Given the description of an element on the screen output the (x, y) to click on. 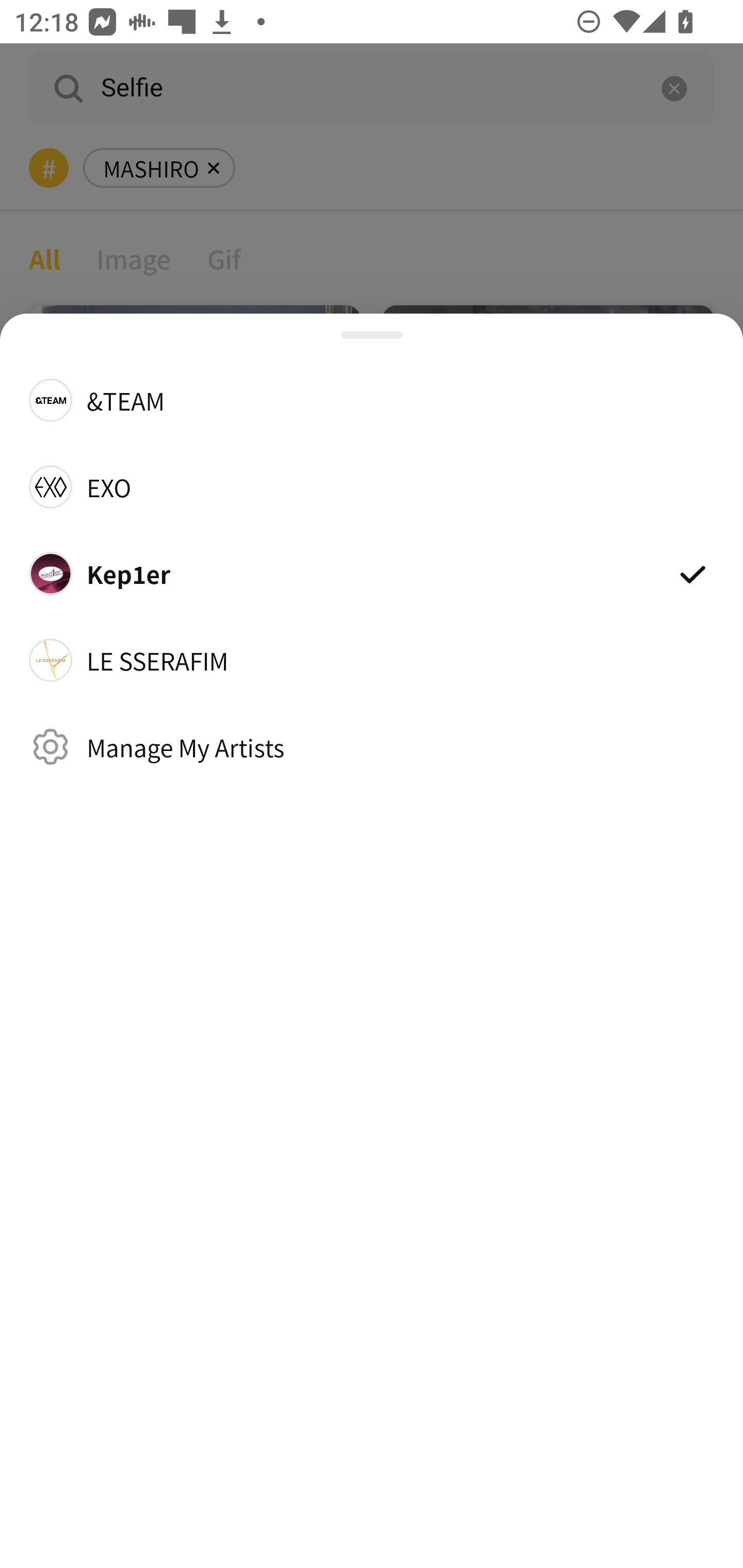
&TEAM (371, 399)
EXO (371, 486)
Kep1er (371, 573)
LE SSERAFIM (371, 660)
Manage My Artists (371, 746)
